Given the description of an element on the screen output the (x, y) to click on. 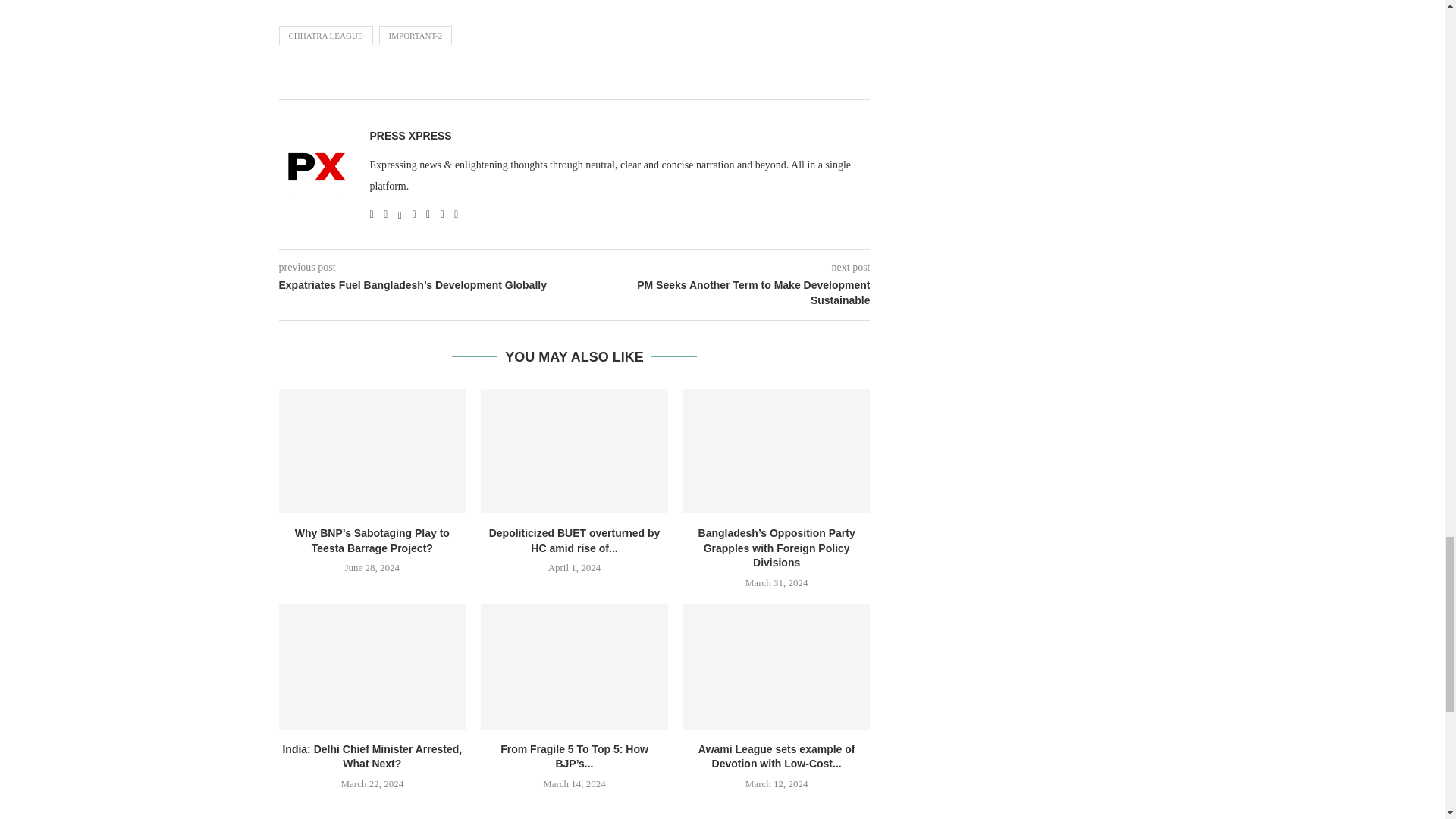
Author Press Xpress (410, 135)
India: Delhi Chief Minister Arrested, What Next? (372, 666)
